Given the description of an element on the screen output the (x, y) to click on. 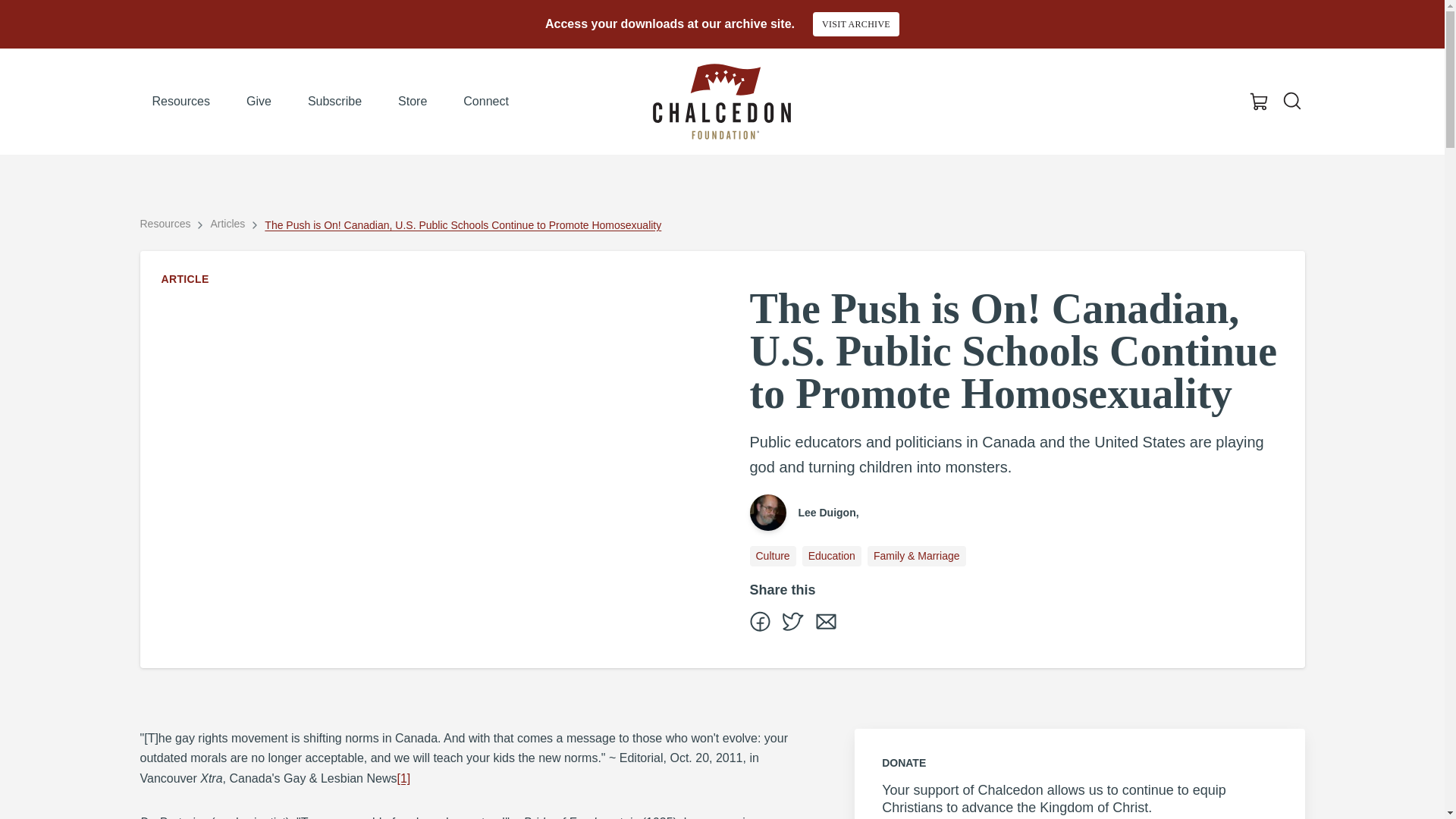
Chalcedon (721, 101)
Resources (180, 101)
VISIT ARCHIVE (855, 24)
Culture (771, 555)
Education (831, 555)
Give (258, 101)
View Cart (1258, 101)
Subscribe (334, 101)
Resources (164, 223)
Connect (486, 101)
Store (412, 101)
Articles (226, 223)
